Given the description of an element on the screen output the (x, y) to click on. 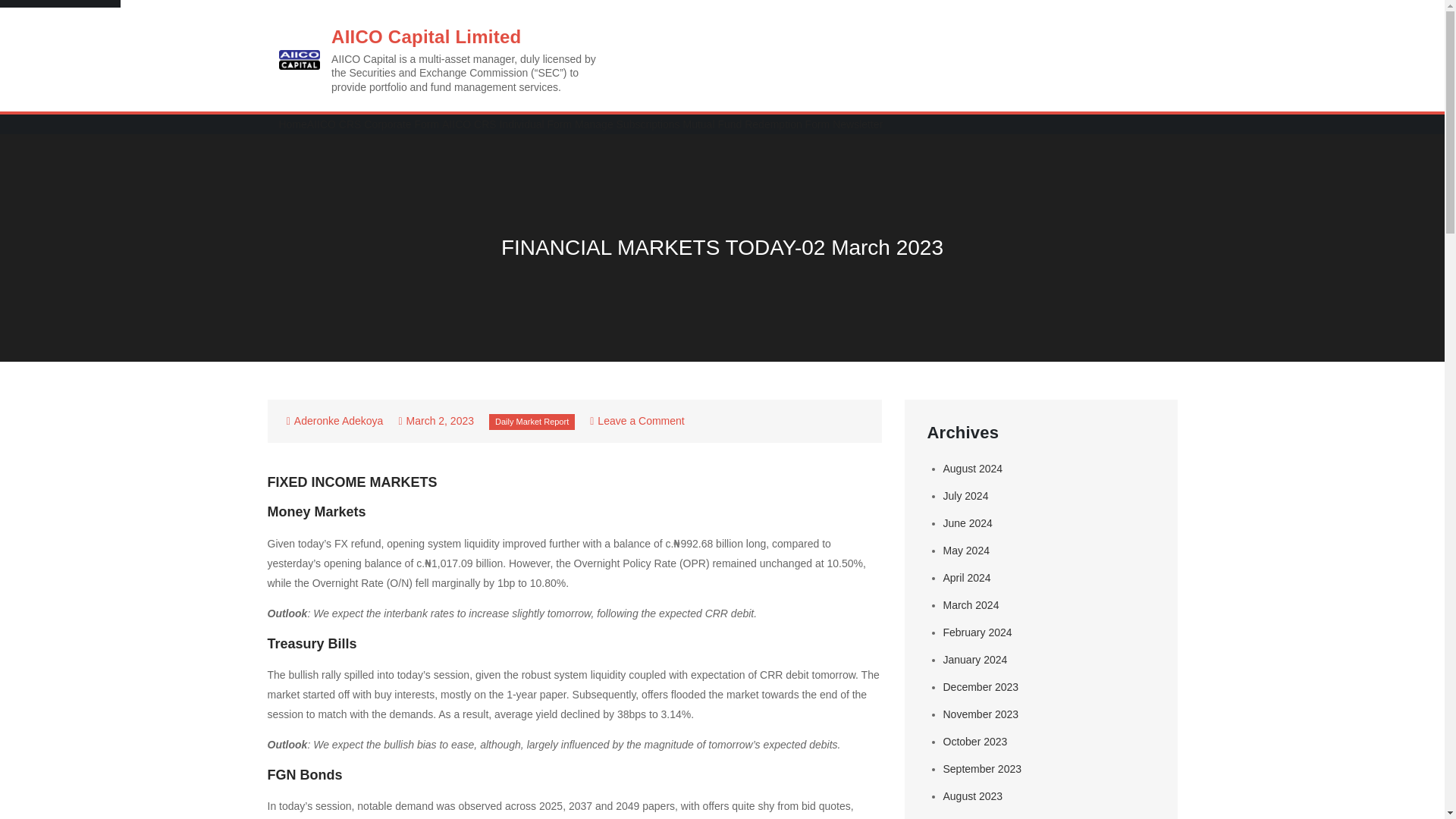
February 2024 (977, 632)
Home (293, 124)
Aderonke Adekoya (339, 420)
December 2023 (981, 686)
August 2024 (973, 468)
July 2024 (965, 495)
September 2023 (982, 768)
January 2024 (975, 659)
Newsletter (857, 124)
AIICO CRS Individual Form (507, 124)
